Given the description of an element on the screen output the (x, y) to click on. 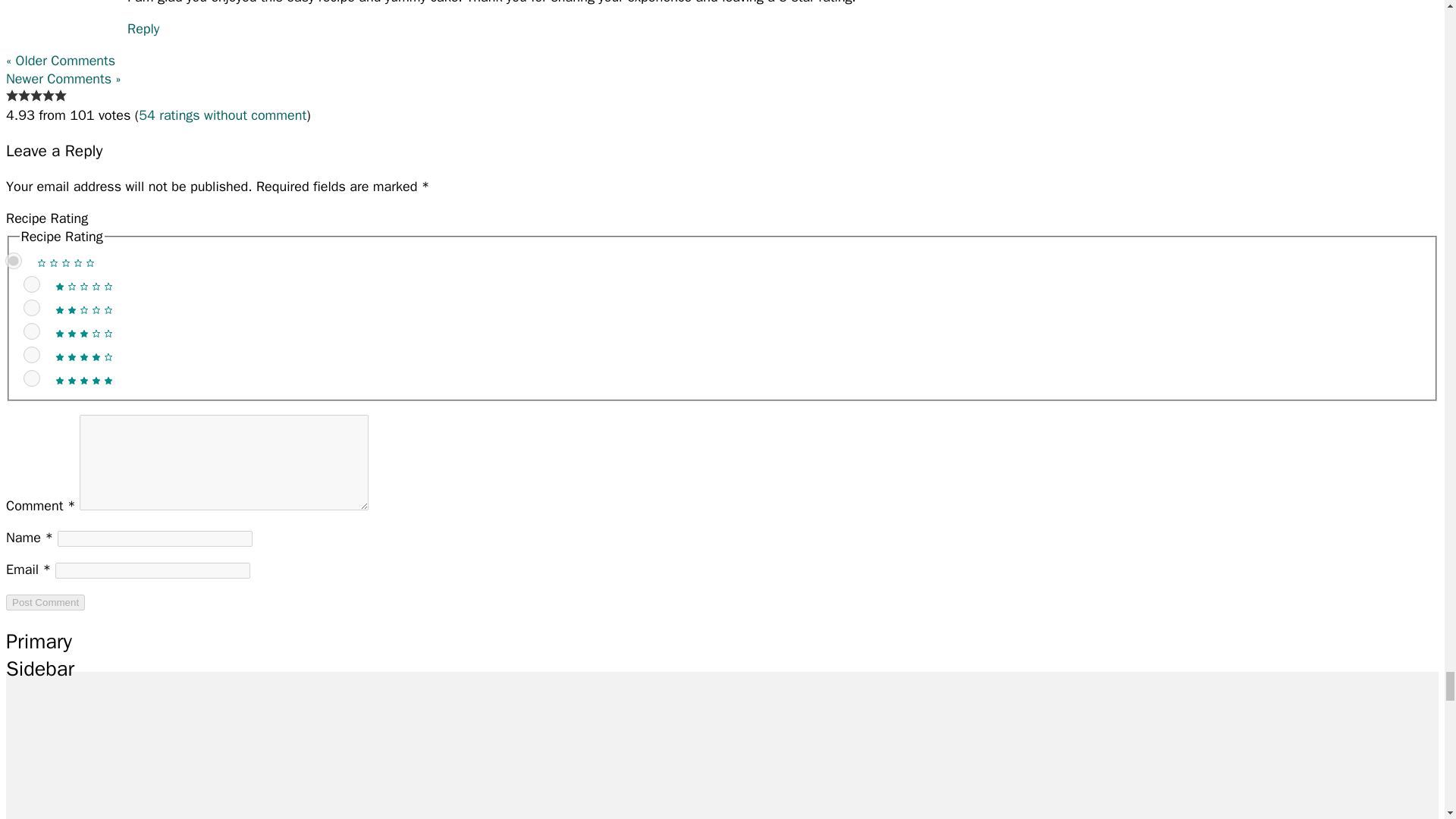
3 (31, 330)
1 (31, 284)
5 (31, 378)
2 (31, 307)
0 (12, 260)
4 (31, 354)
Post Comment (44, 602)
